Given the description of an element on the screen output the (x, y) to click on. 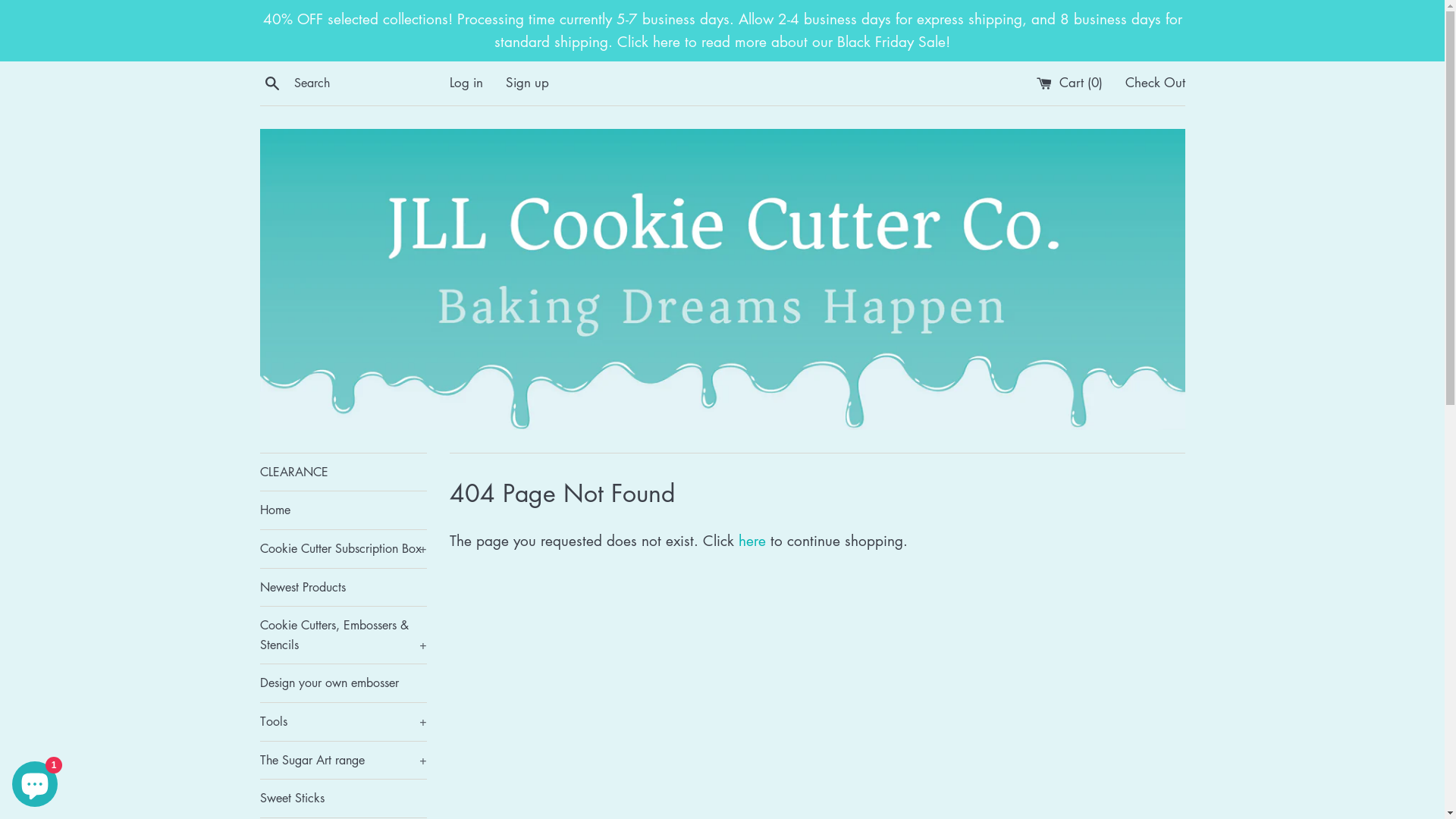
Check Out Element type: text (1155, 82)
Cookie Cutters, Embossers & Stencils
+ Element type: text (342, 634)
Cart (0) Element type: text (1070, 82)
Shopify online store chat Element type: hover (34, 780)
Sign up Element type: text (526, 82)
CLEARANCE Element type: text (342, 472)
Home Element type: text (342, 510)
Design your own embosser Element type: text (342, 683)
Log in Element type: text (465, 82)
The Sugar Art range
+ Element type: text (342, 760)
Tools
+ Element type: text (342, 721)
Sweet Sticks Element type: text (342, 798)
here Element type: text (751, 540)
Search Element type: text (271, 81)
Newest Products Element type: text (342, 587)
Cookie Cutter Subscription Box
+ Element type: text (342, 548)
